Given the description of an element on the screen output the (x, y) to click on. 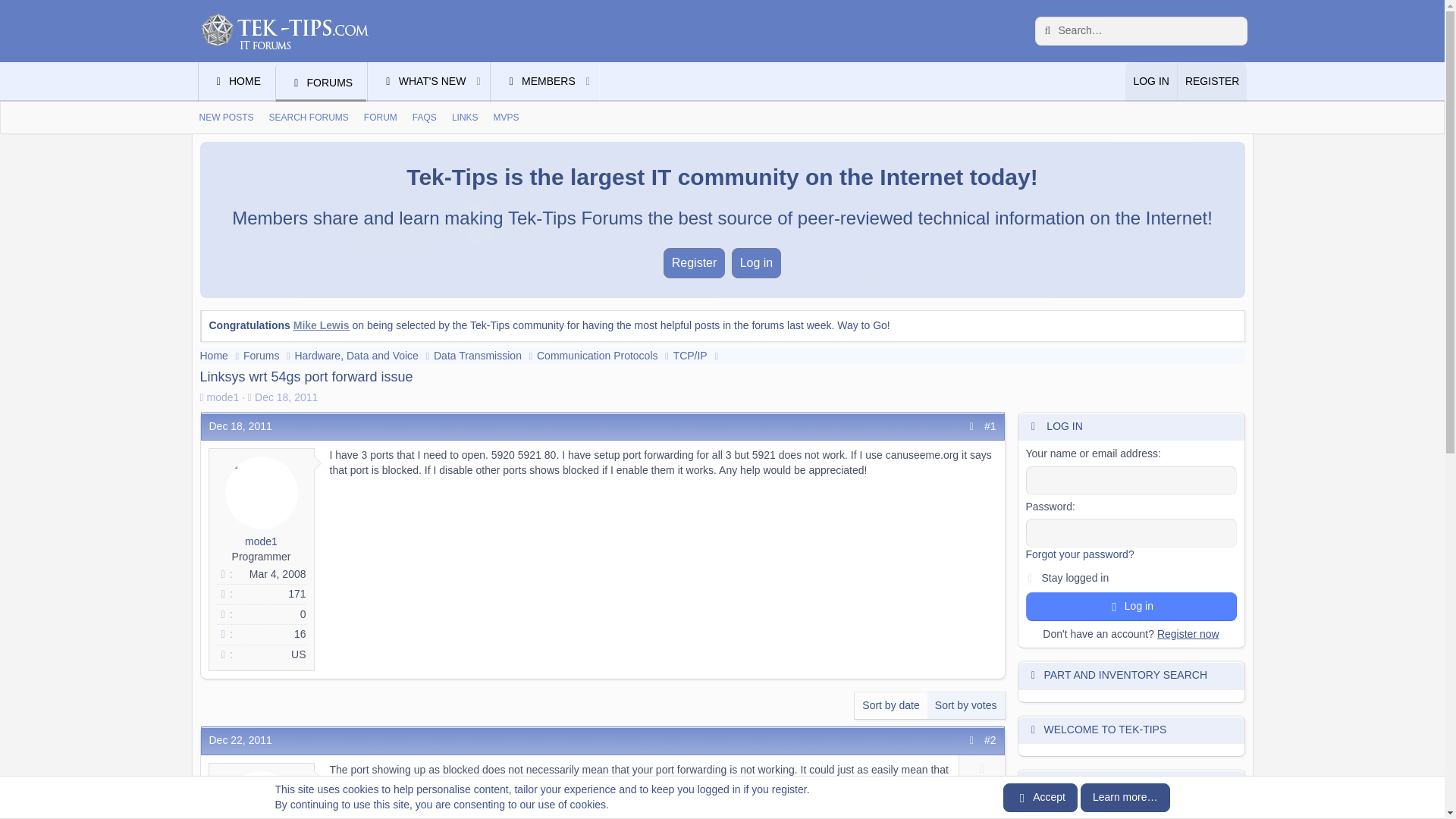
WHAT'S NEW (417, 81)
Dec 18, 2011 at 7:03 AM (285, 397)
SEARCH FORUMS (309, 117)
HOME (236, 81)
LINKS (465, 117)
MEMBERS (533, 81)
NEW POSTS (225, 117)
FORUMS (321, 82)
LOG IN (1150, 81)
